Given the description of an element on the screen output the (x, y) to click on. 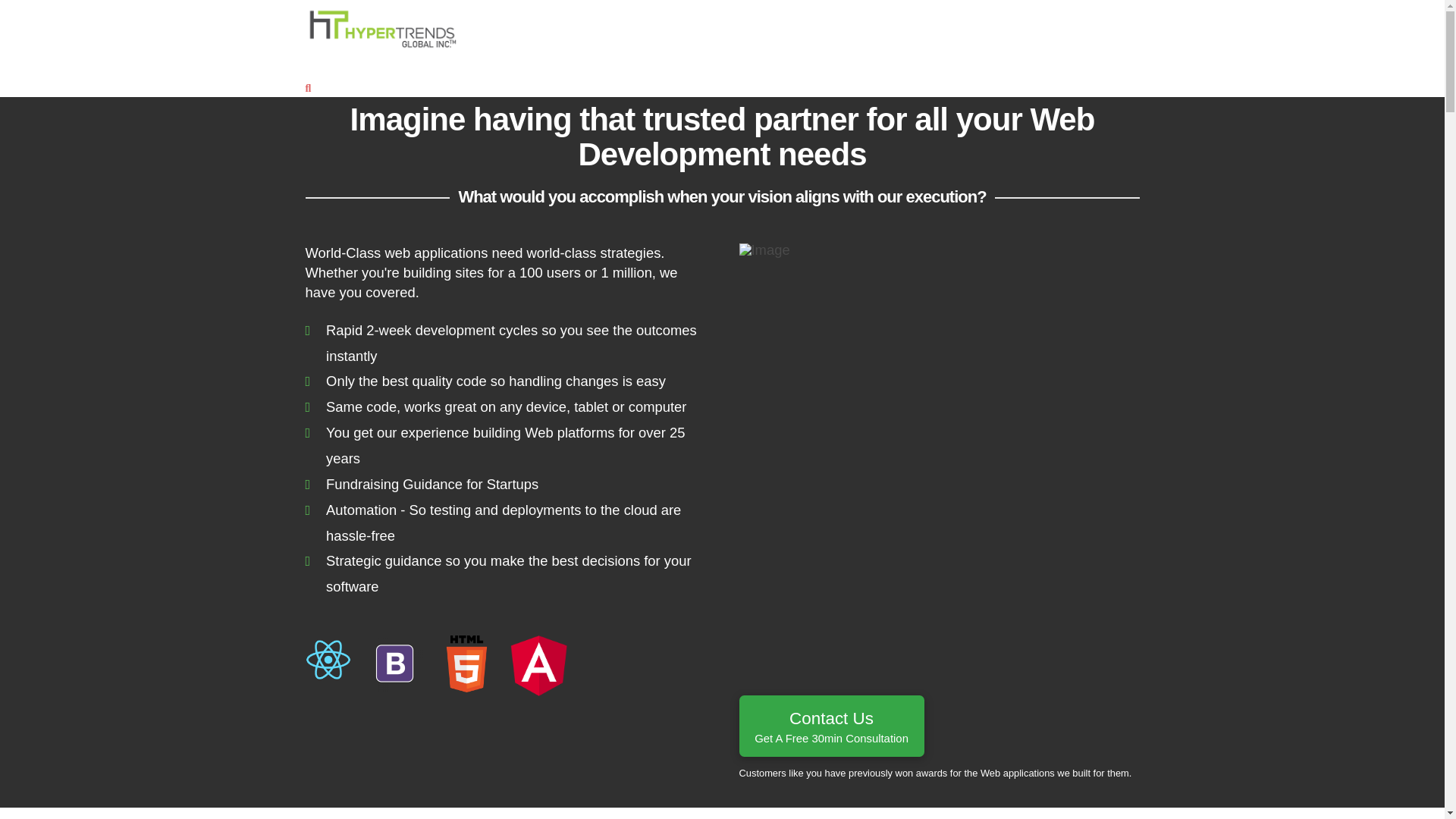
Schedule A Consultation (572, 64)
About Us (830, 725)
Work (466, 64)
Blog (373, 64)
Home (413, 64)
Schedule A Consultation (327, 64)
